Given the description of an element on the screen output the (x, y) to click on. 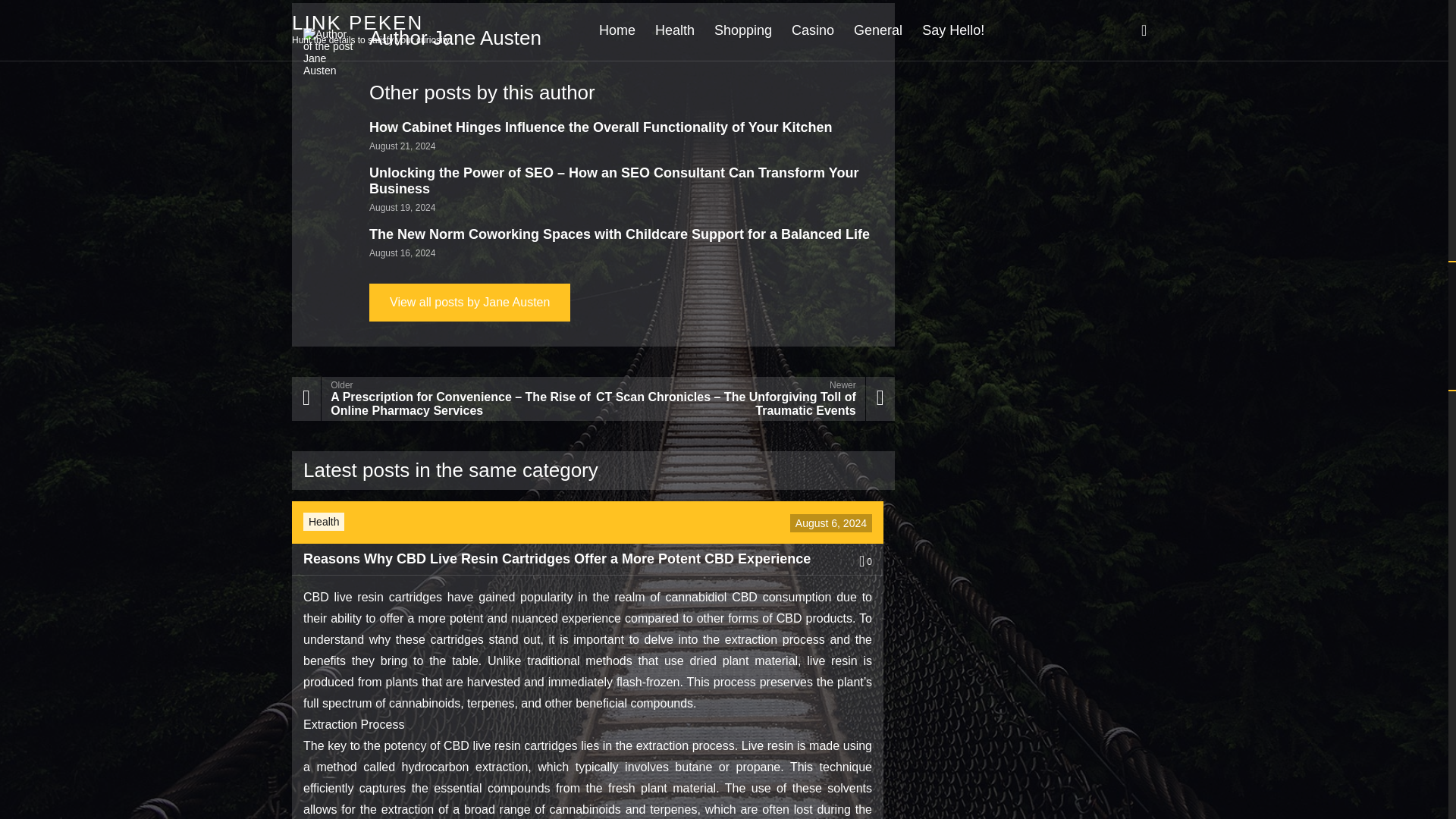
View all posts by Jane Austen (469, 302)
Health (323, 521)
0 (865, 561)
